Given the description of an element on the screen output the (x, y) to click on. 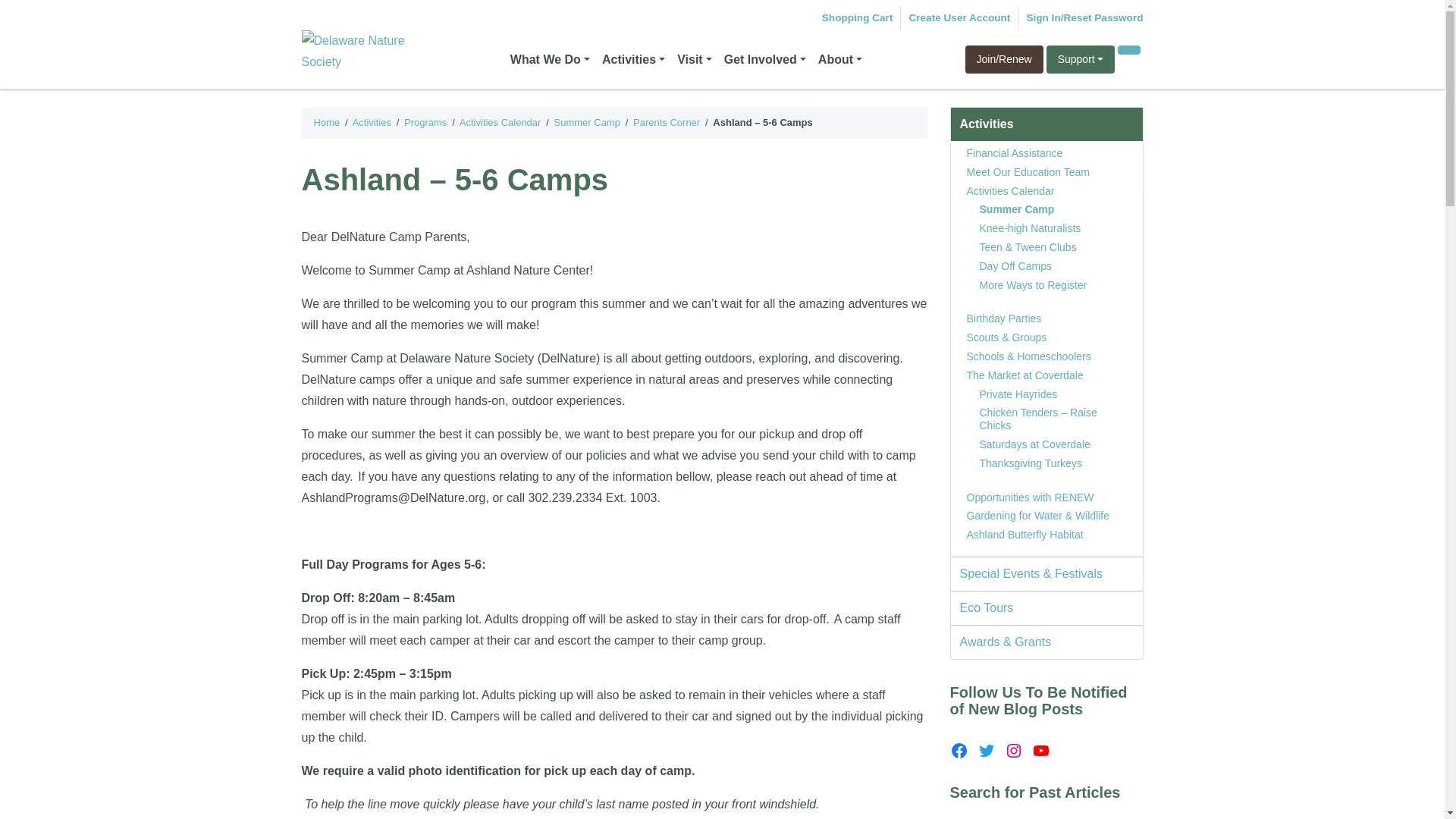
About (839, 59)
Search this Site (1129, 49)
What We Do (549, 59)
Delaware Nature Society (362, 51)
Visit (694, 59)
Support (1080, 59)
Shopping Cart (857, 17)
Activities (633, 59)
Get Involved (764, 59)
Create User Account (959, 17)
